Given the description of an element on the screen output the (x, y) to click on. 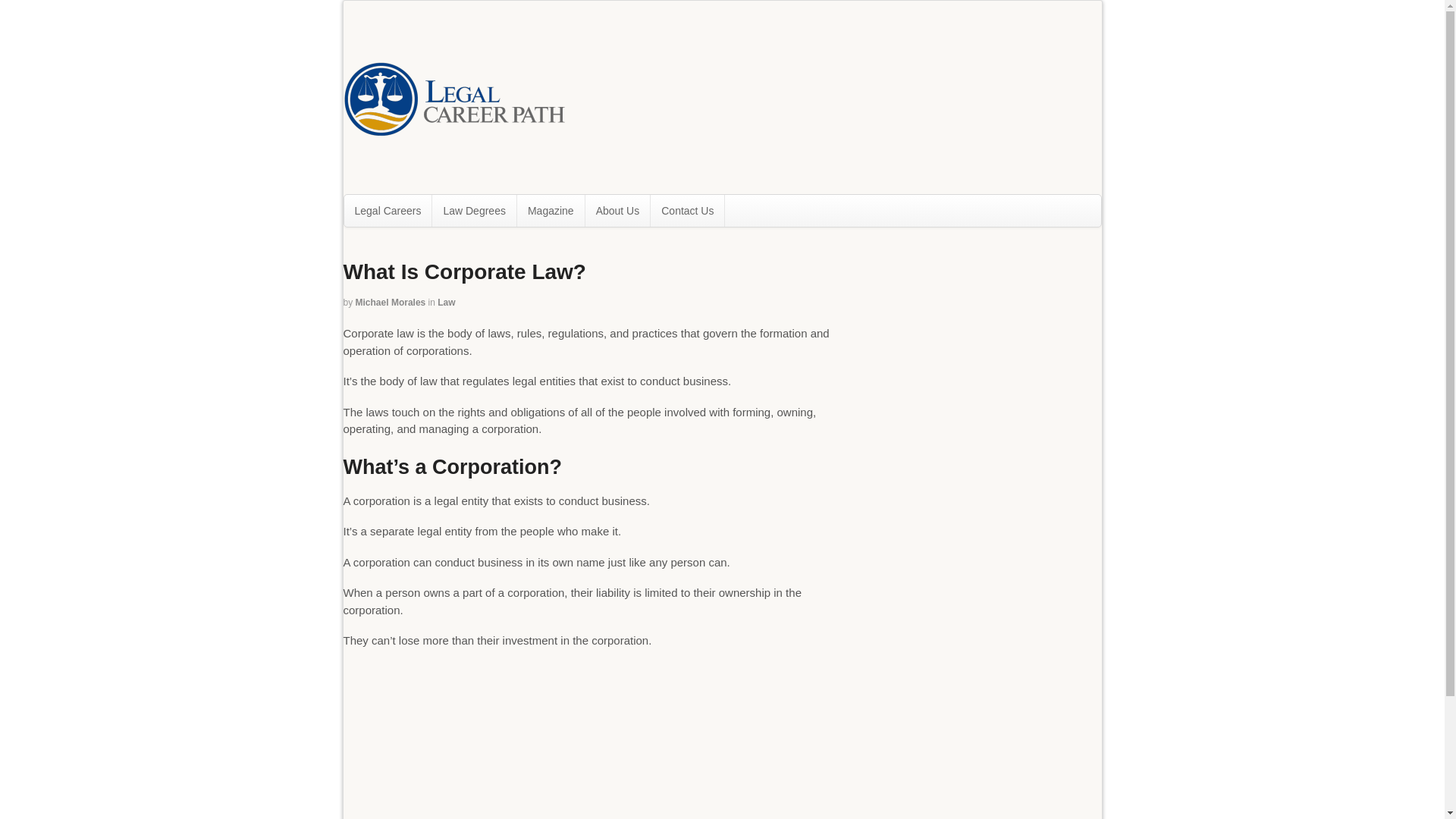
Law (446, 302)
Contact Us (686, 210)
Posts by Michael Morales (390, 302)
Law Degrees (474, 210)
About Us (617, 210)
Michael Morales (390, 302)
Magazine (550, 210)
Legal Careers (387, 210)
